Given the description of an element on the screen output the (x, y) to click on. 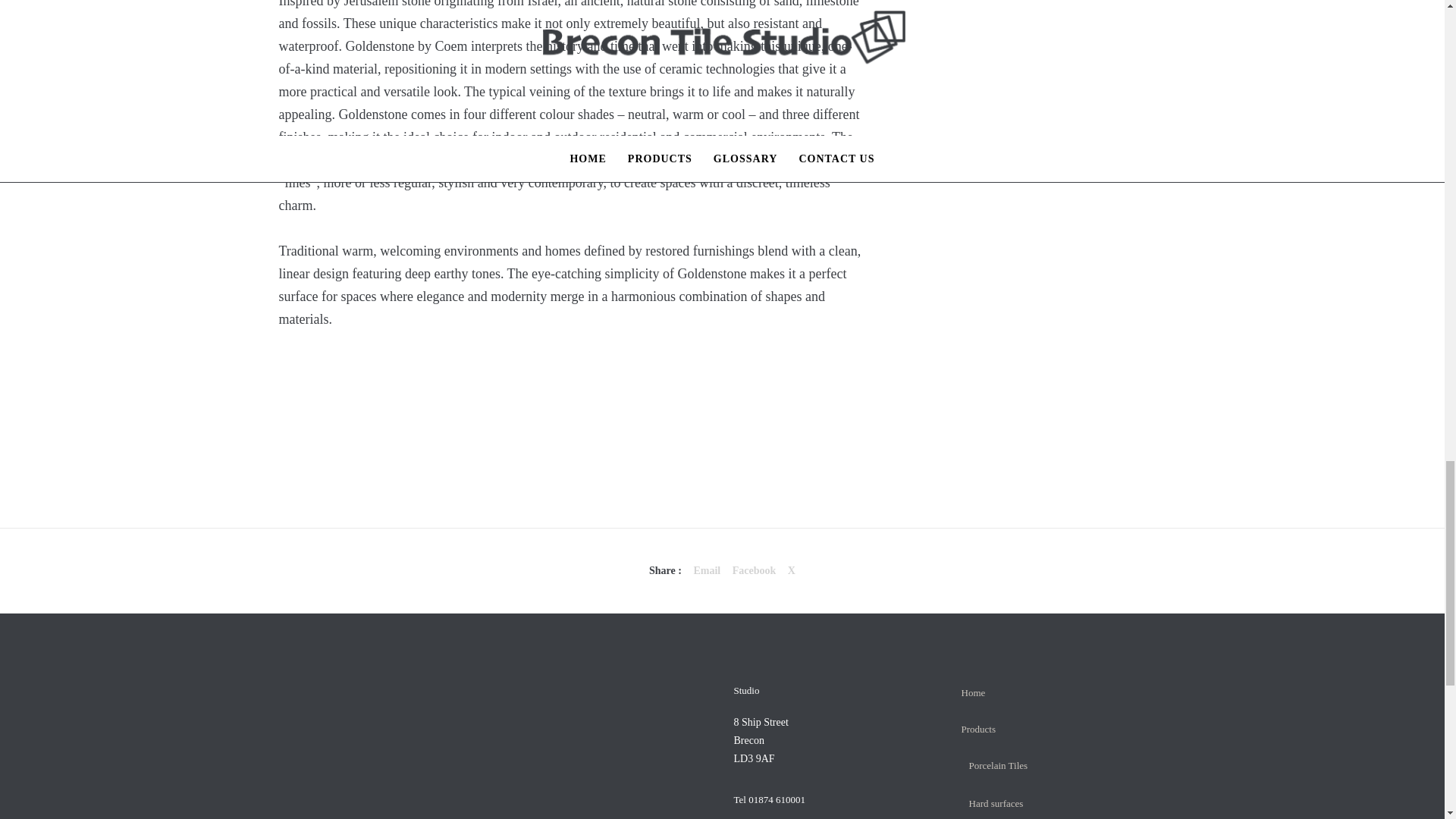
Coem Goldenstone (754, 570)
Facebook (754, 570)
Coem Goldenstone (706, 570)
Products (977, 728)
Porcelain Tiles (998, 765)
Home (972, 692)
Hard surfaces (996, 803)
Email (706, 570)
